Given the description of an element on the screen output the (x, y) to click on. 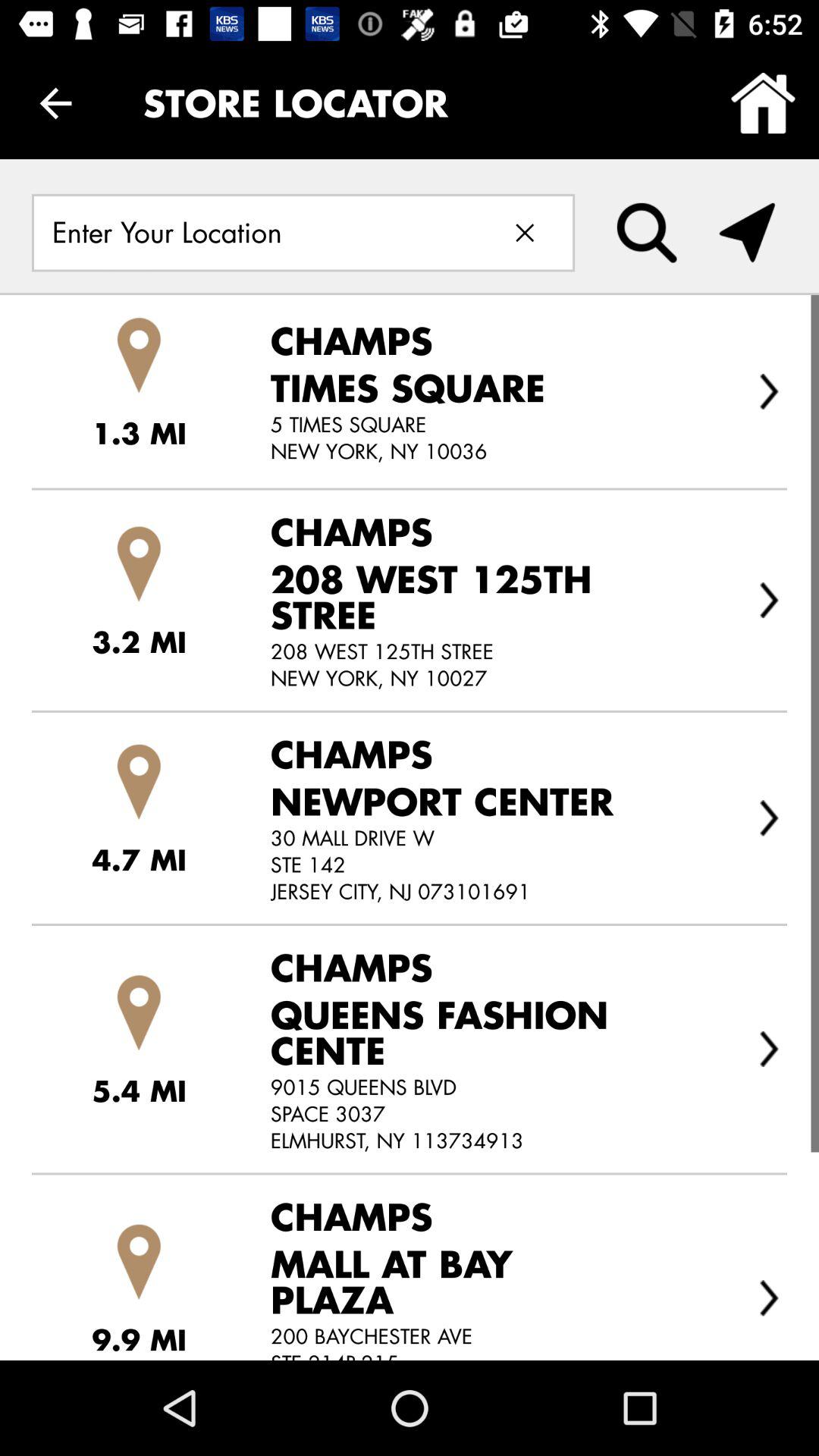
enter location (255, 232)
